Given the description of an element on the screen output the (x, y) to click on. 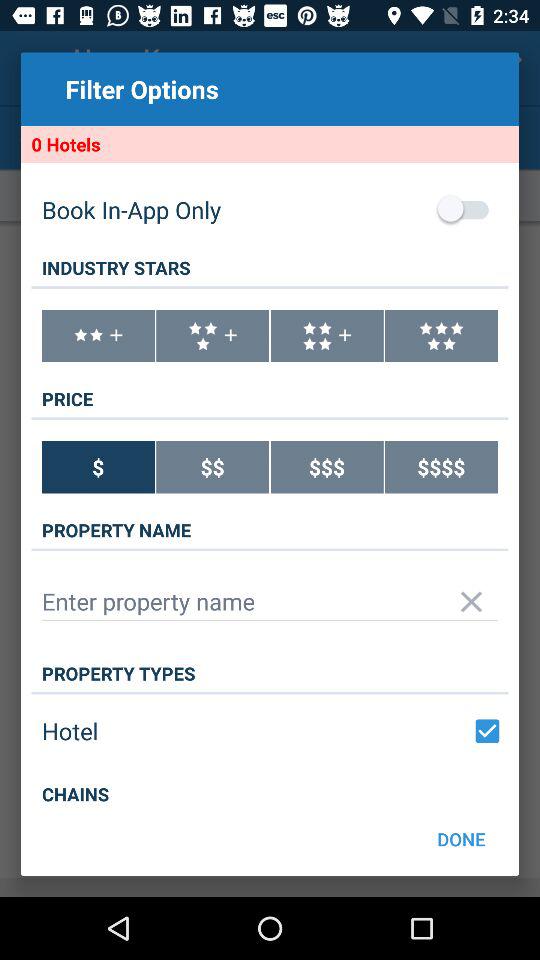
choose 3 plus star hotel (212, 335)
